Given the description of an element on the screen output the (x, y) to click on. 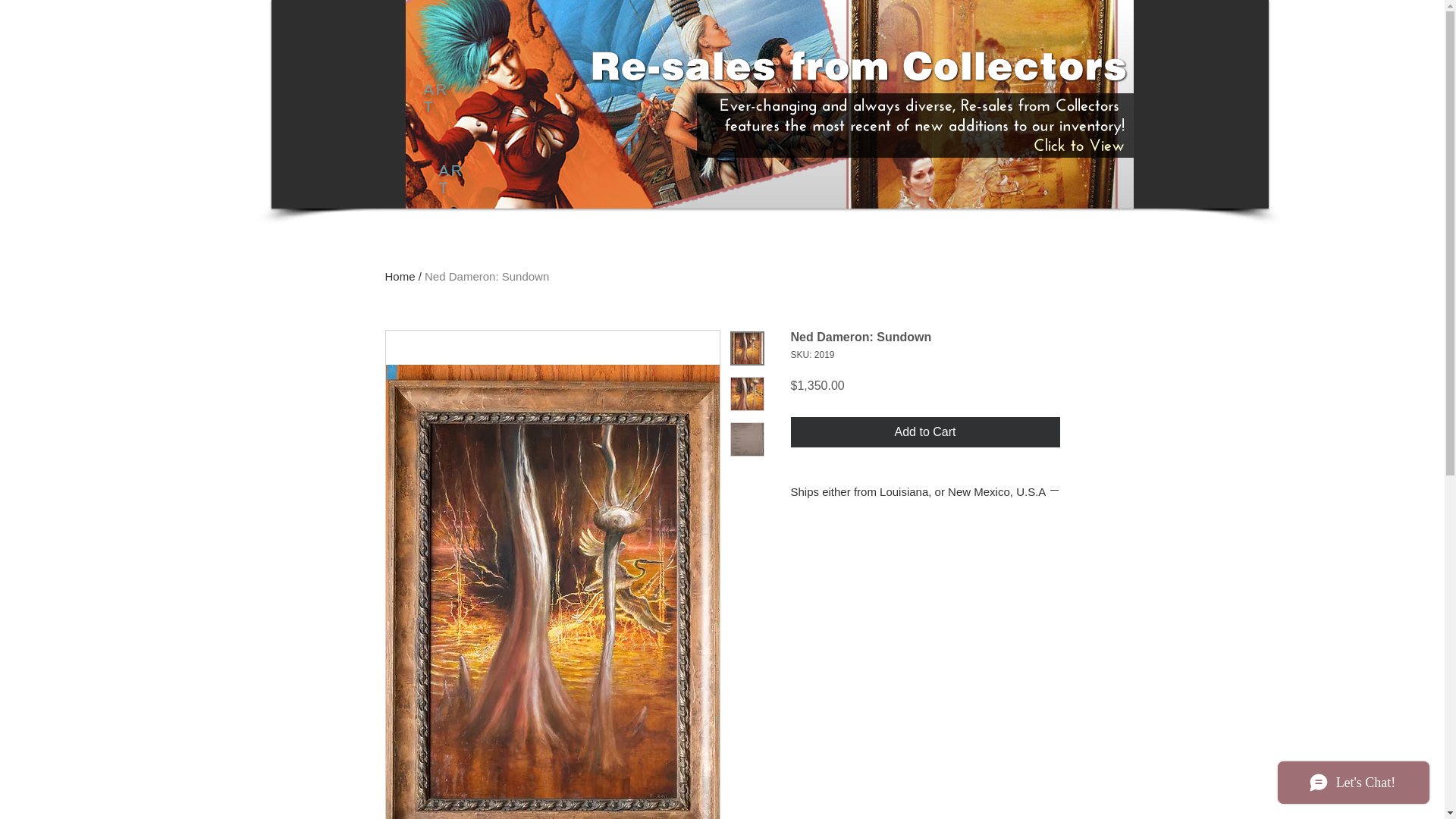
Add to Cart (924, 431)
Ships either from Louisiana, or New Mexico, U.S.A (924, 491)
Home (399, 276)
KEITH SCAIFE COLLECTION (416, 737)
Ned Dameron: Sundown (486, 276)
